Given the description of an element on the screen output the (x, y) to click on. 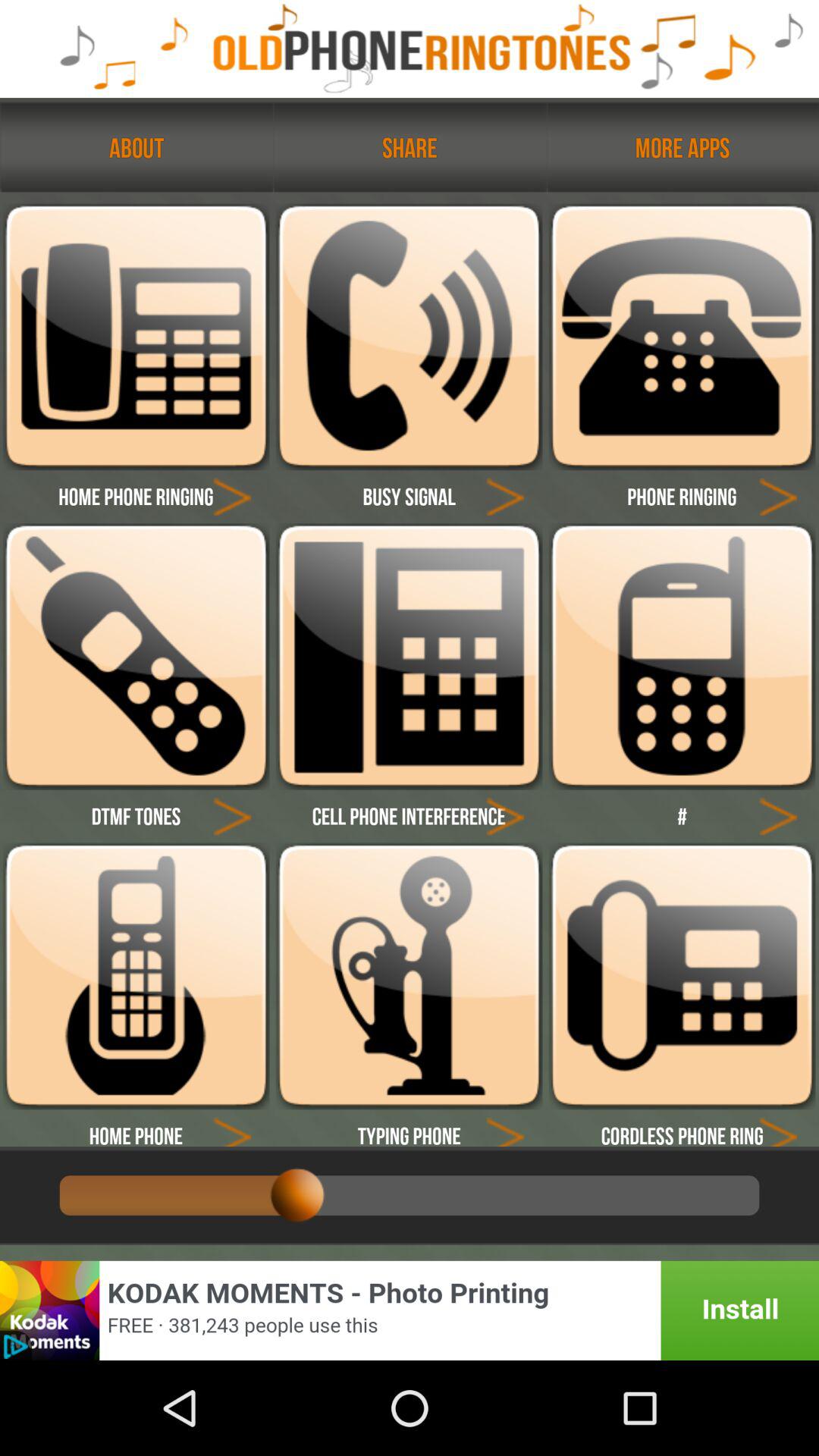
go to card (778, 1127)
